Given the description of an element on the screen output the (x, y) to click on. 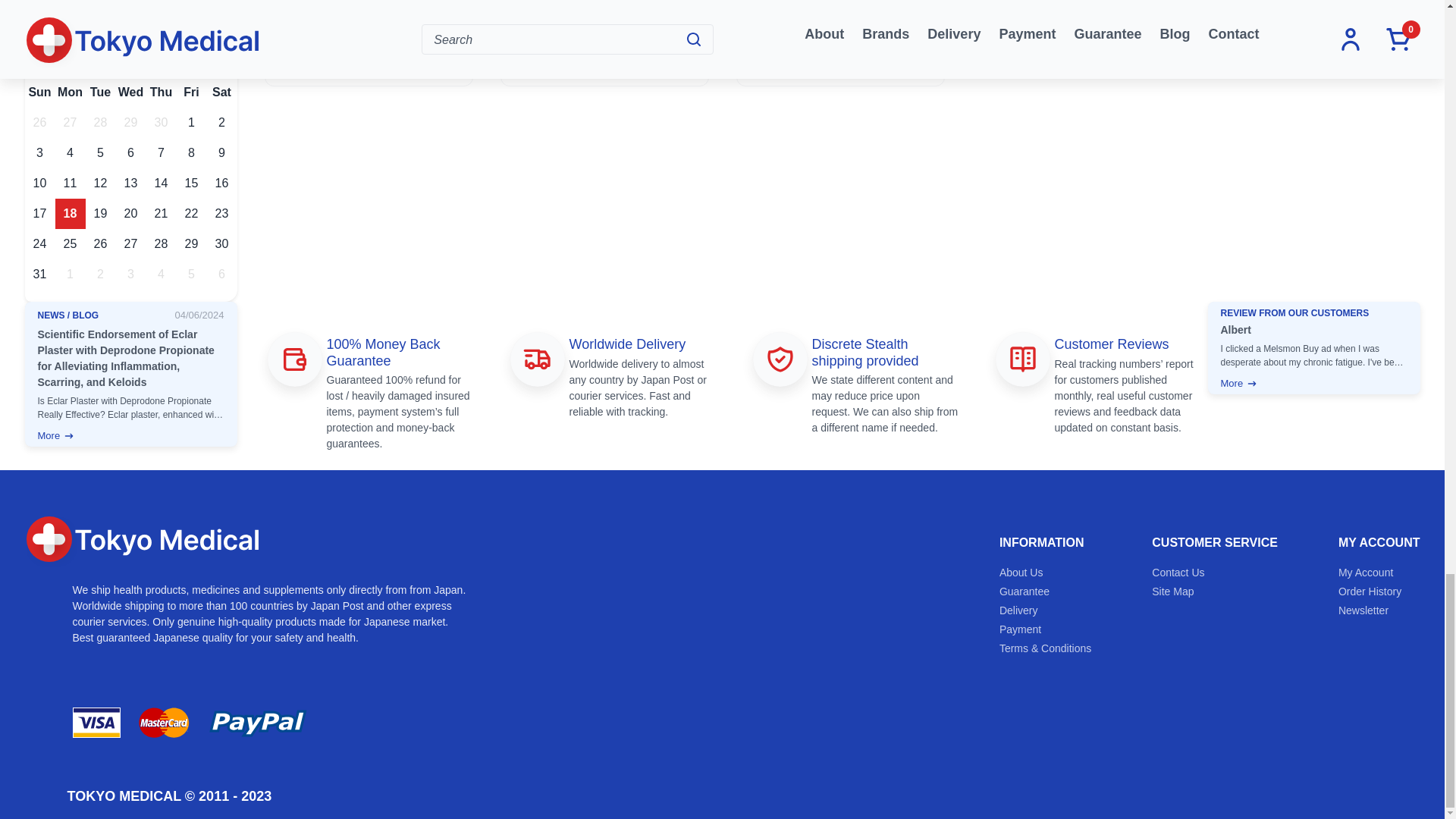
Japan Health Center (142, 541)
pay (190, 722)
Discrete Stealth shipping provided (779, 358)
Customer Reviews (1021, 358)
Worldwide Delivery (536, 358)
